Given the description of an element on the screen output the (x, y) to click on. 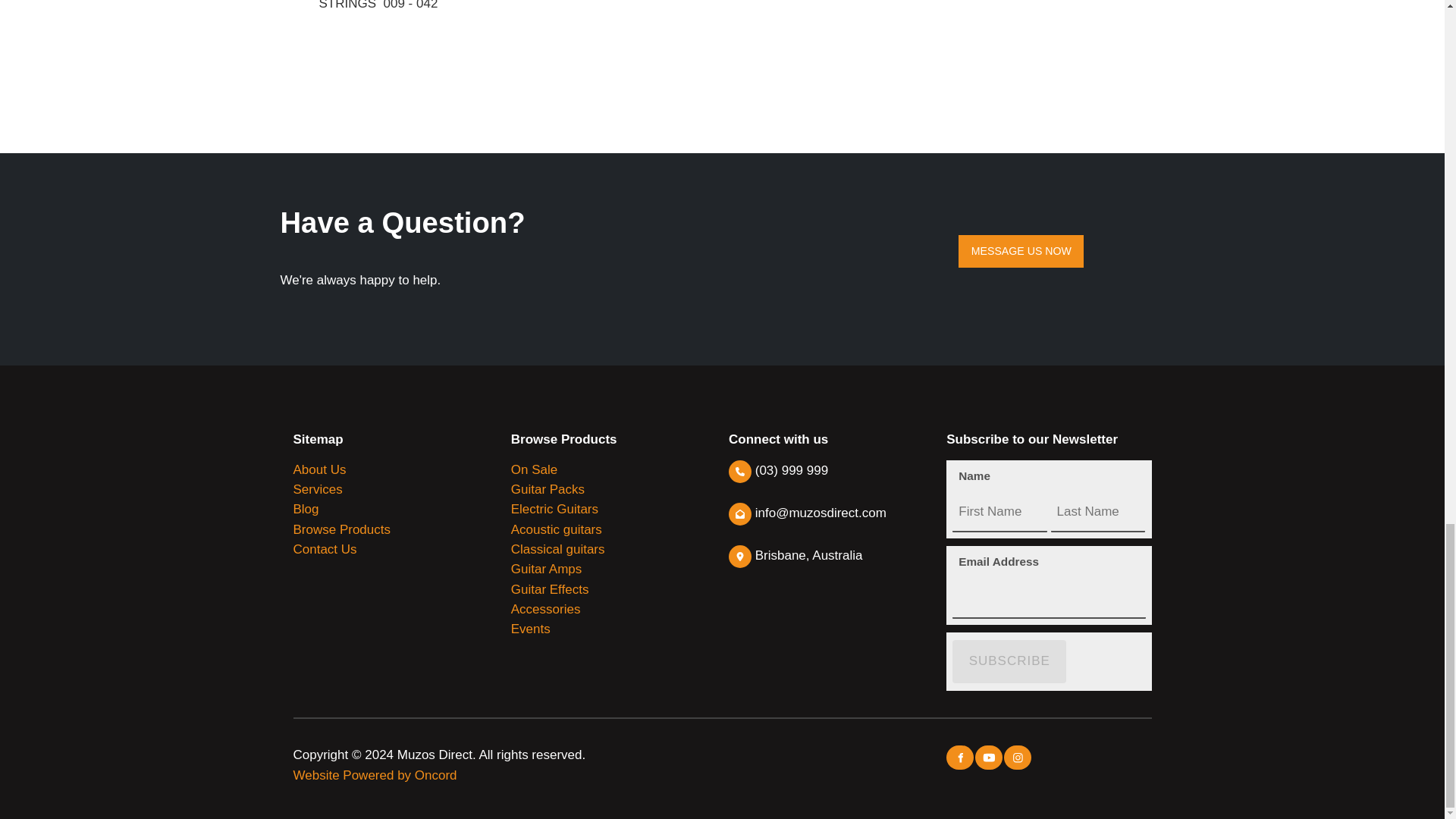
Accessories (545, 608)
Facebook (960, 757)
SUBSCRIBE (1008, 660)
Electric Guitars (554, 509)
MESSAGE US NOW (1020, 250)
Youtube (989, 757)
Browse Products (341, 529)
Guitar Effects (550, 589)
Events (530, 628)
Guitar Packs (548, 489)
